Given the description of an element on the screen output the (x, y) to click on. 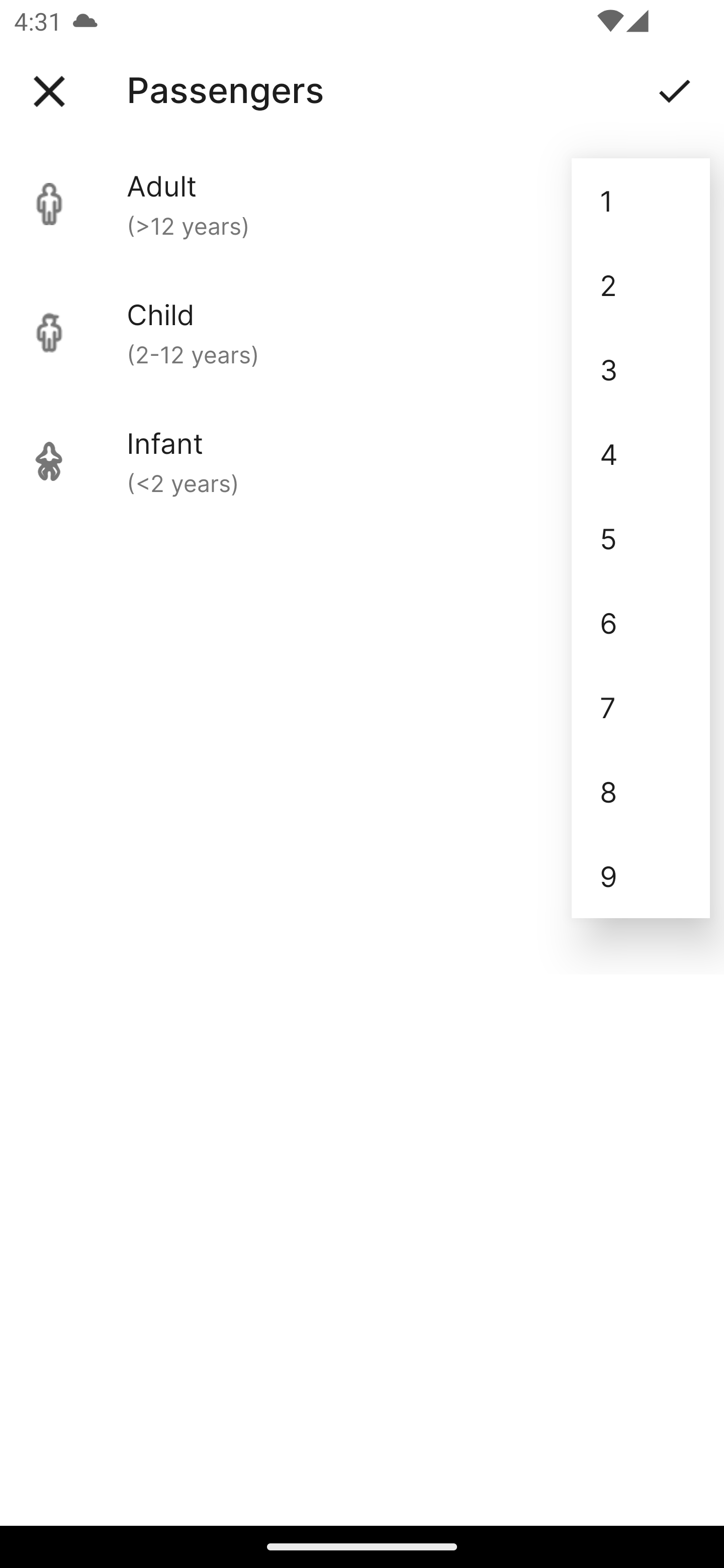
1 (640, 200)
2 (640, 285)
3 (640, 368)
4 (640, 452)
5 (640, 537)
6 (640, 622)
7 (640, 706)
8 (640, 791)
9 (640, 876)
